Given the description of an element on the screen output the (x, y) to click on. 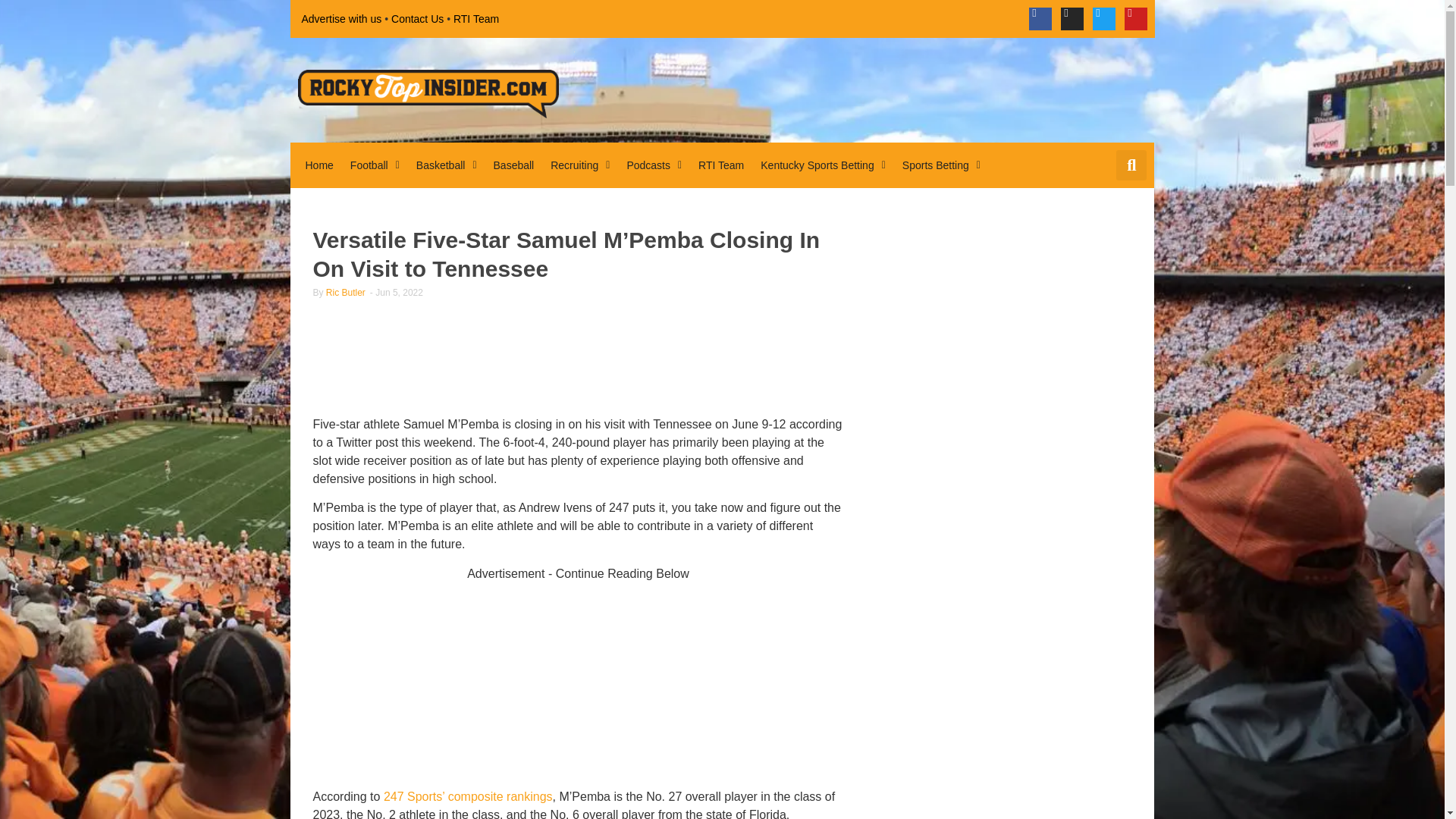
RTI Team (475, 18)
Sports Betting (941, 165)
RTI Team (720, 165)
Football (374, 165)
Recruiting (580, 165)
Podcasts (653, 165)
Home (318, 165)
Kentucky Sports Betting (822, 165)
Contact Us (417, 18)
Basketball (446, 165)
